Given the description of an element on the screen output the (x, y) to click on. 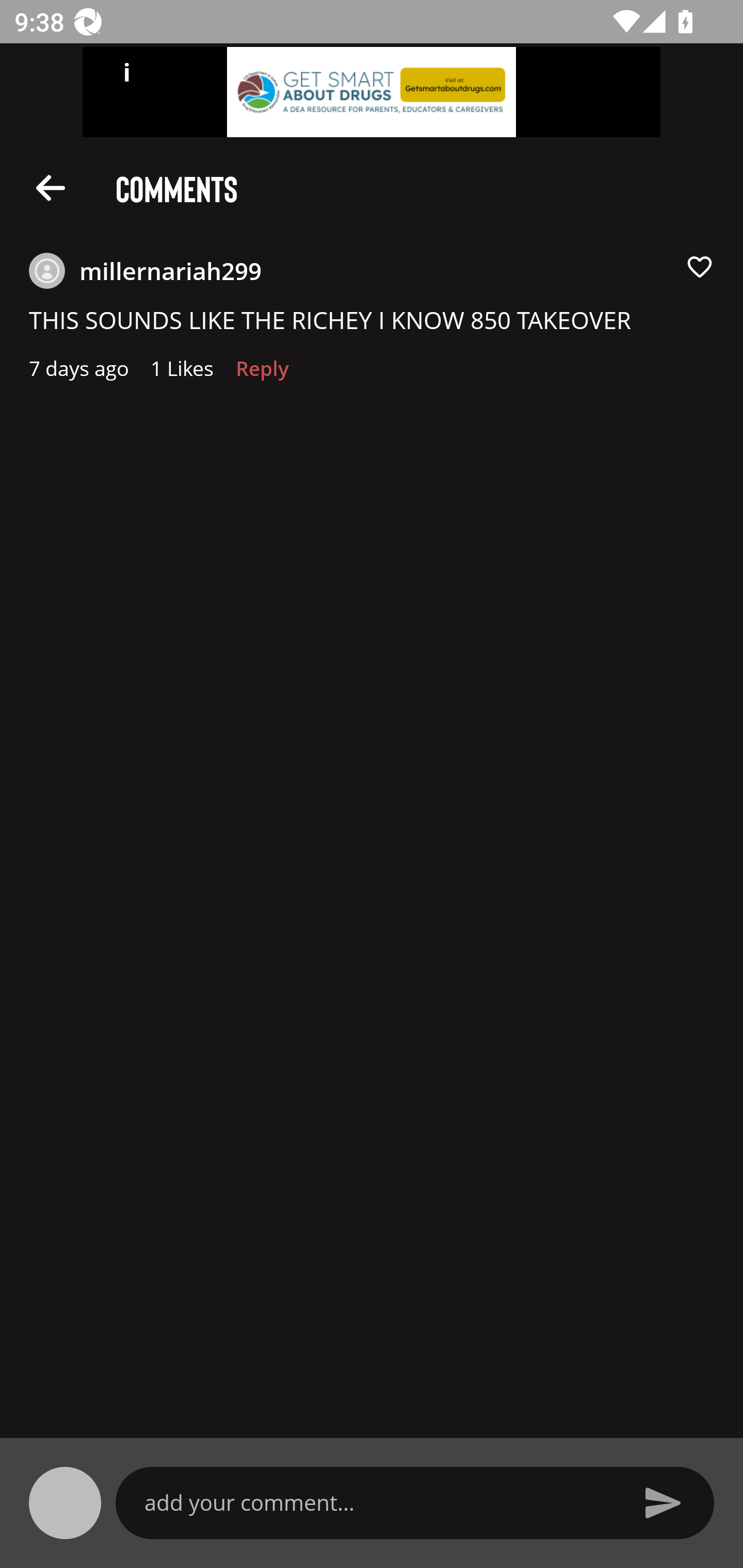
Description (50, 187)
Reply (261, 372)
add your comment… (378, 1502)
